Given the description of an element on the screen output the (x, y) to click on. 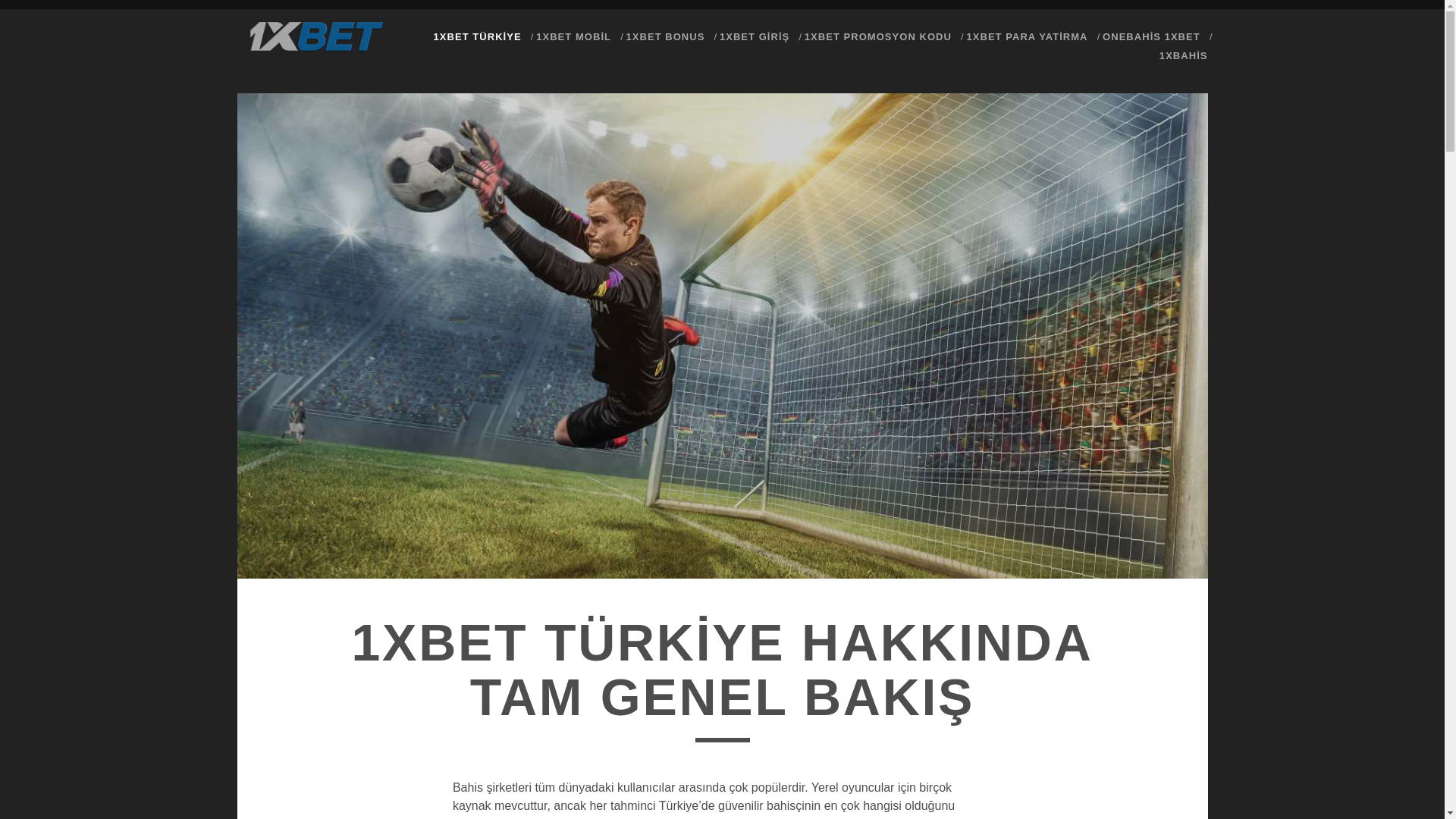
1XBET PROMOSYON KODU Element type: text (877, 37)
1XBET BONUS Element type: text (665, 37)
1XBET MOBIL Element type: text (573, 37)
1XBAHIS Element type: text (1183, 56)
1XBET PARA YATIRMA Element type: text (1026, 37)
ONEBAHIS 1XBET Element type: text (1151, 37)
